Given the description of an element on the screen output the (x, y) to click on. 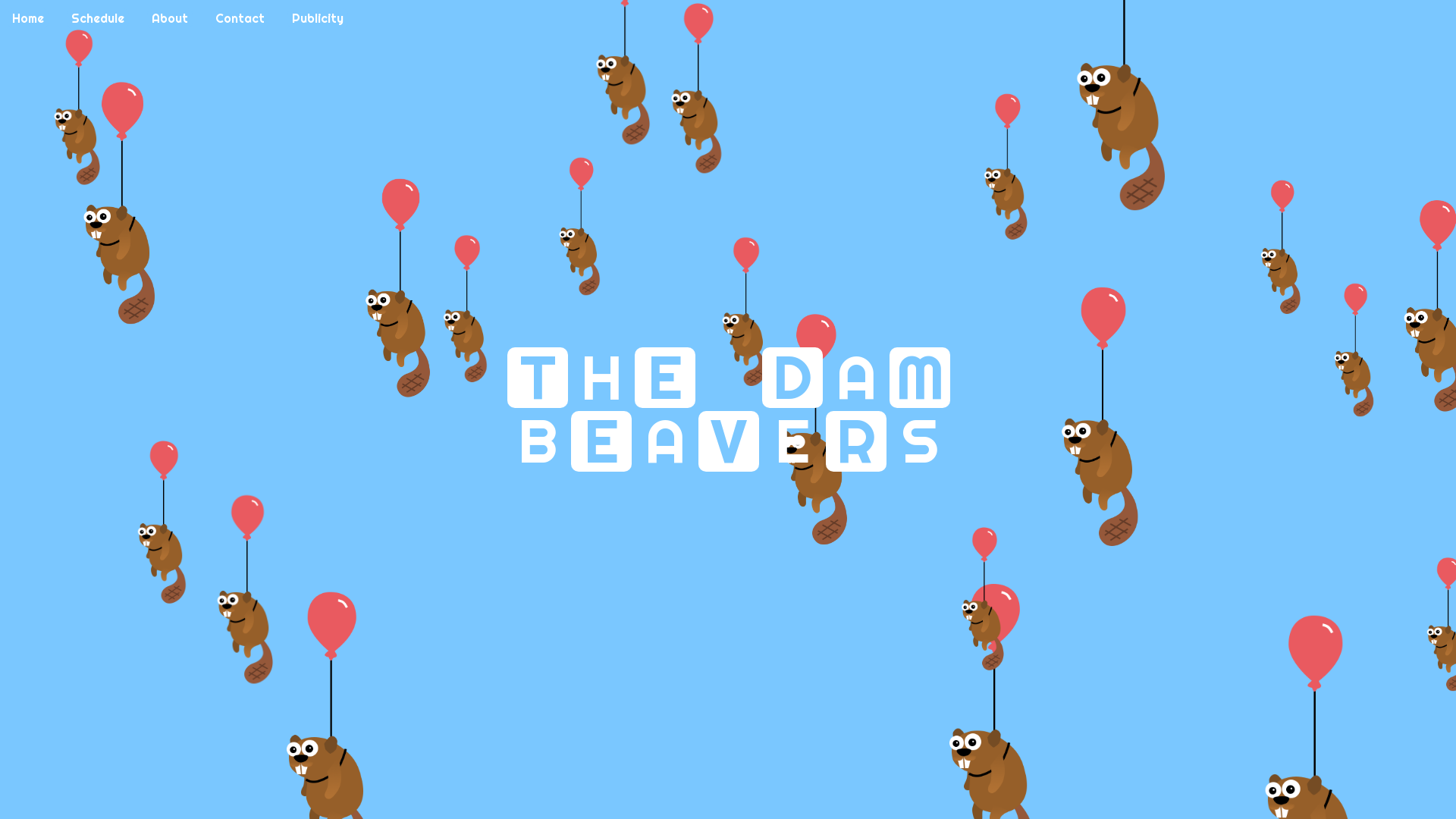
Publicity Element type: text (317, 18)
Contact Element type: text (239, 18)
Schedule Element type: text (97, 18)
Home Element type: text (27, 18)
About Element type: text (169, 18)
